Given the description of an element on the screen output the (x, y) to click on. 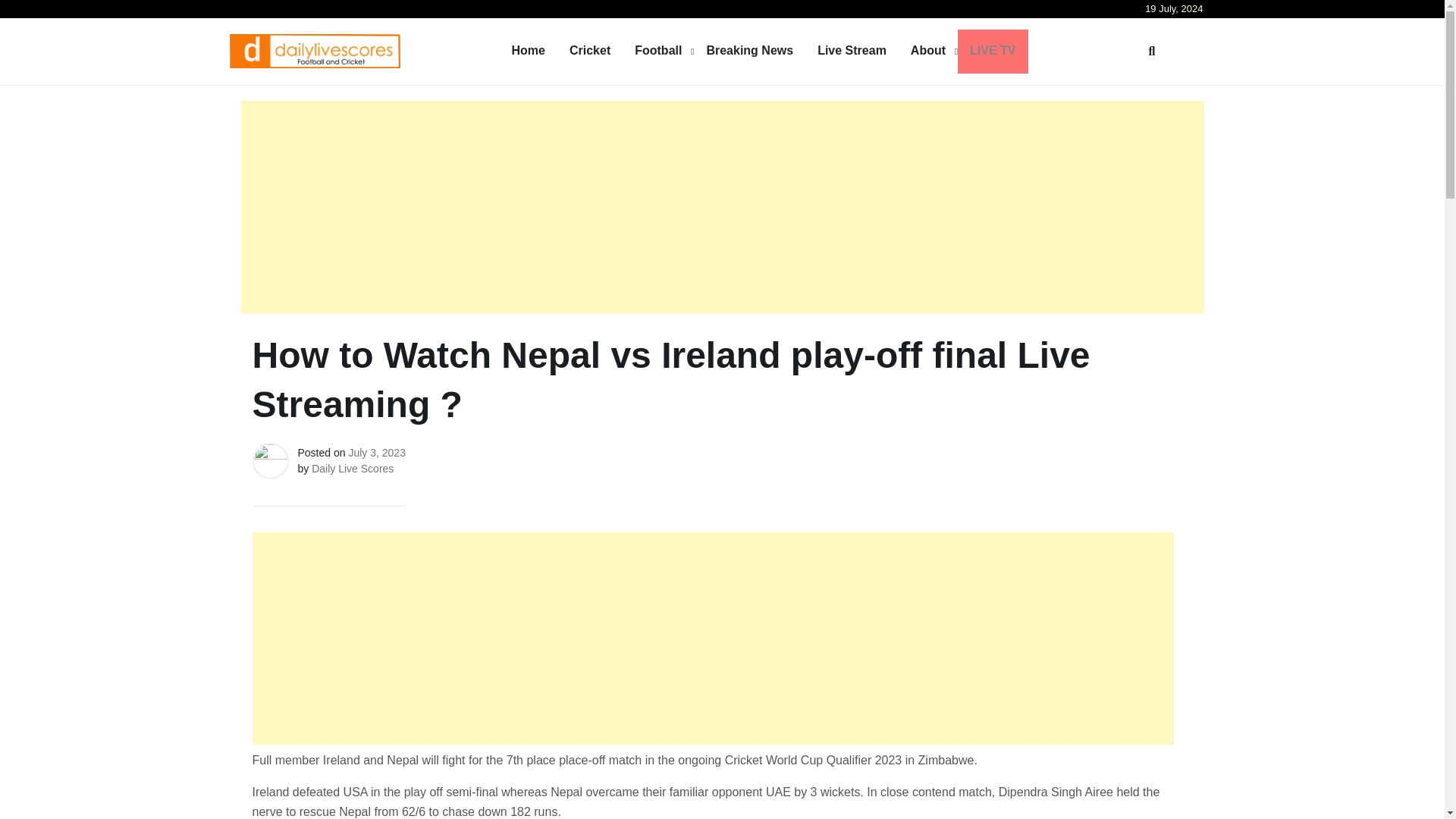
July 3, 2023 (376, 451)
About (928, 50)
Football (658, 50)
Daily Live Scores (352, 468)
Live Stream (851, 50)
Home (527, 50)
Football and Cricket News (356, 89)
Breaking News (749, 50)
LIVE TV (992, 50)
Cricket (590, 50)
